Given the description of an element on the screen output the (x, y) to click on. 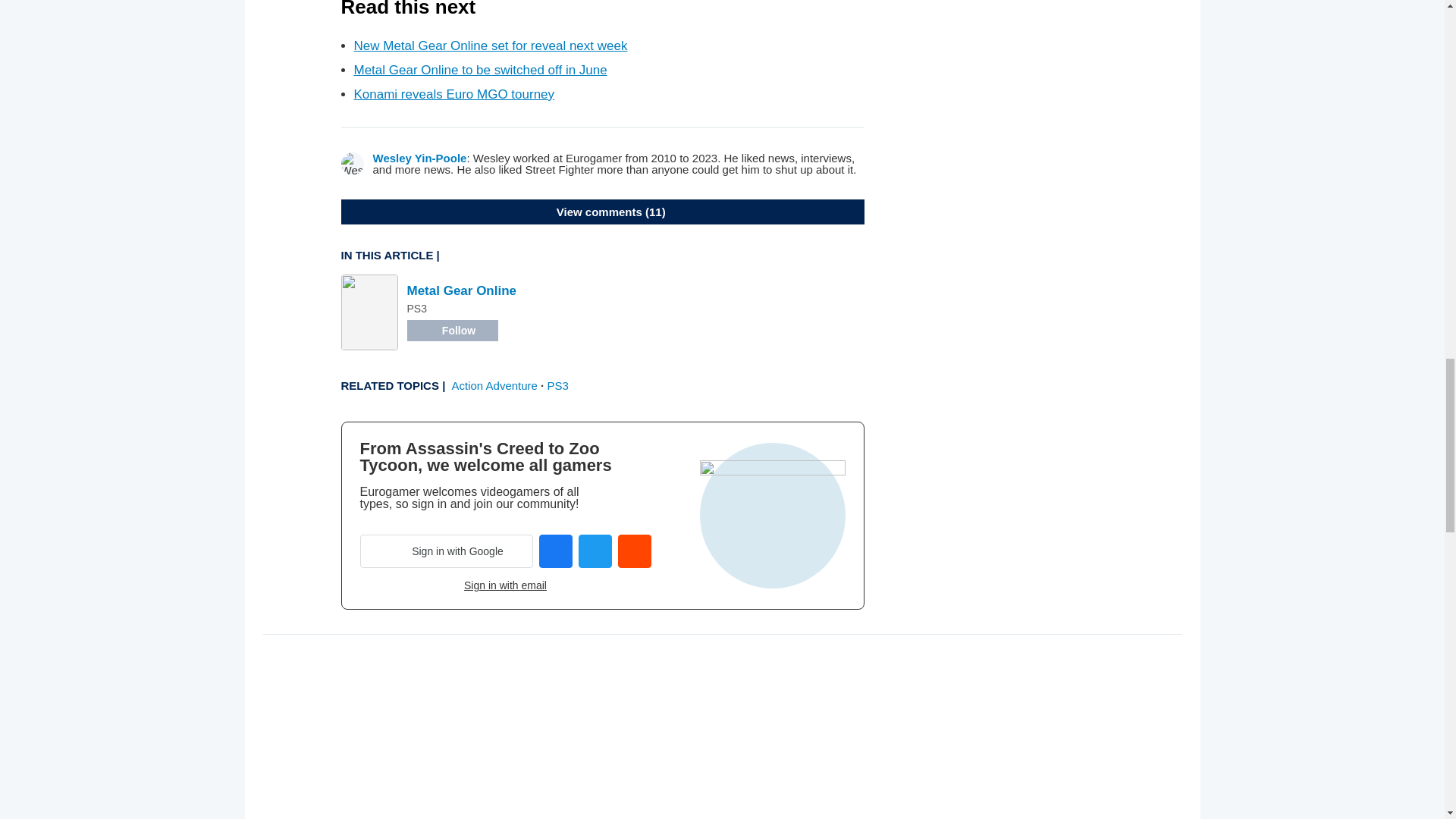
Wesley Yin-Poole (419, 157)
Konami reveals Euro MGO tourney (453, 93)
New Metal Gear Online set for reveal next week (490, 45)
Follow (451, 330)
Metal Gear Online (461, 290)
Metal Gear Online to be switched off in June (480, 69)
